Given the description of an element on the screen output the (x, y) to click on. 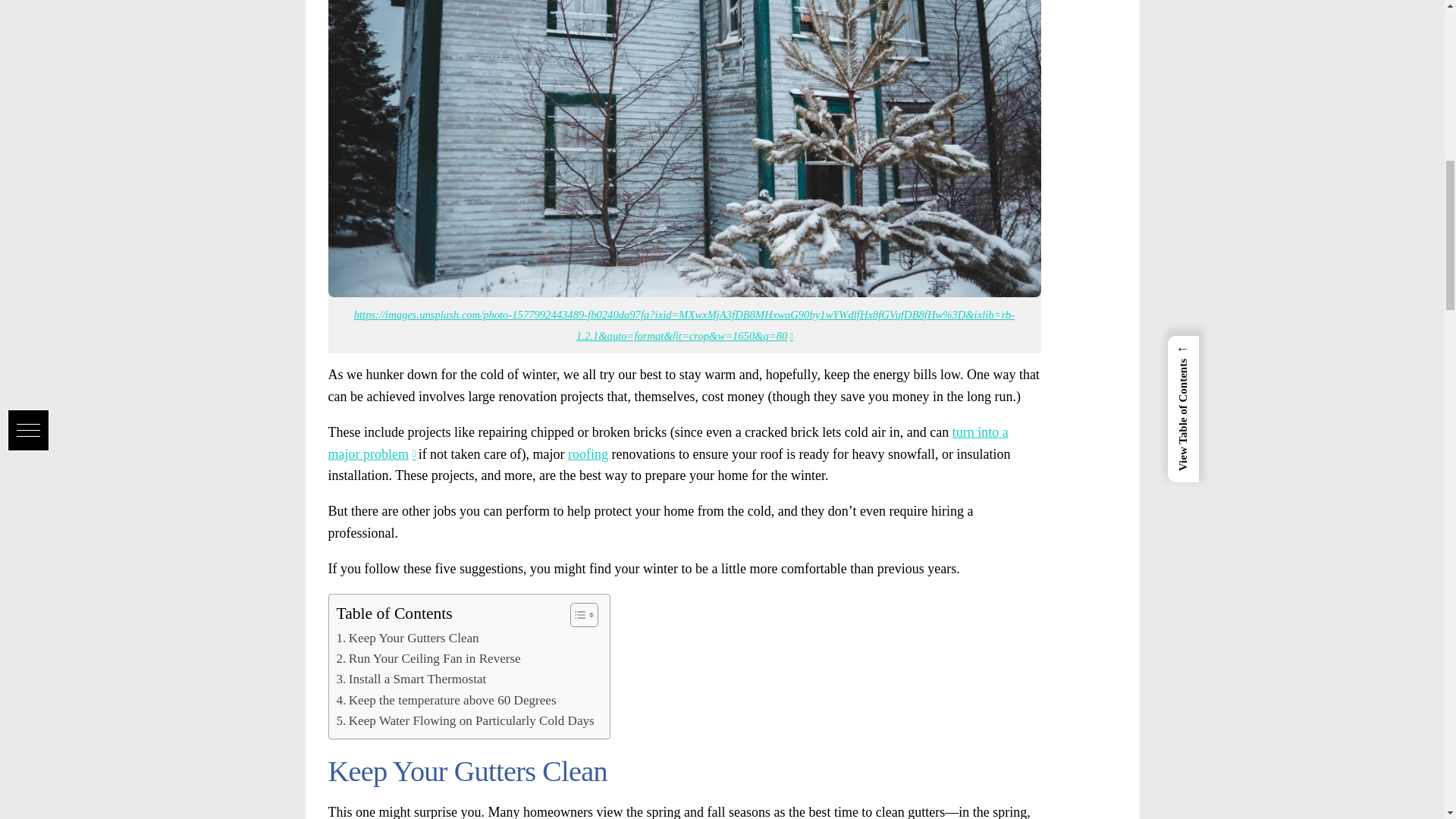
Keep the temperature above 60 Degrees (446, 700)
Keep Water Flowing on Particularly Cold Days (465, 720)
Keep Your Gutters Clean (407, 638)
Install a Smart Thermostat (411, 679)
Run Your Ceiling Fan in Reverse (428, 658)
